Given the description of an element on the screen output the (x, y) to click on. 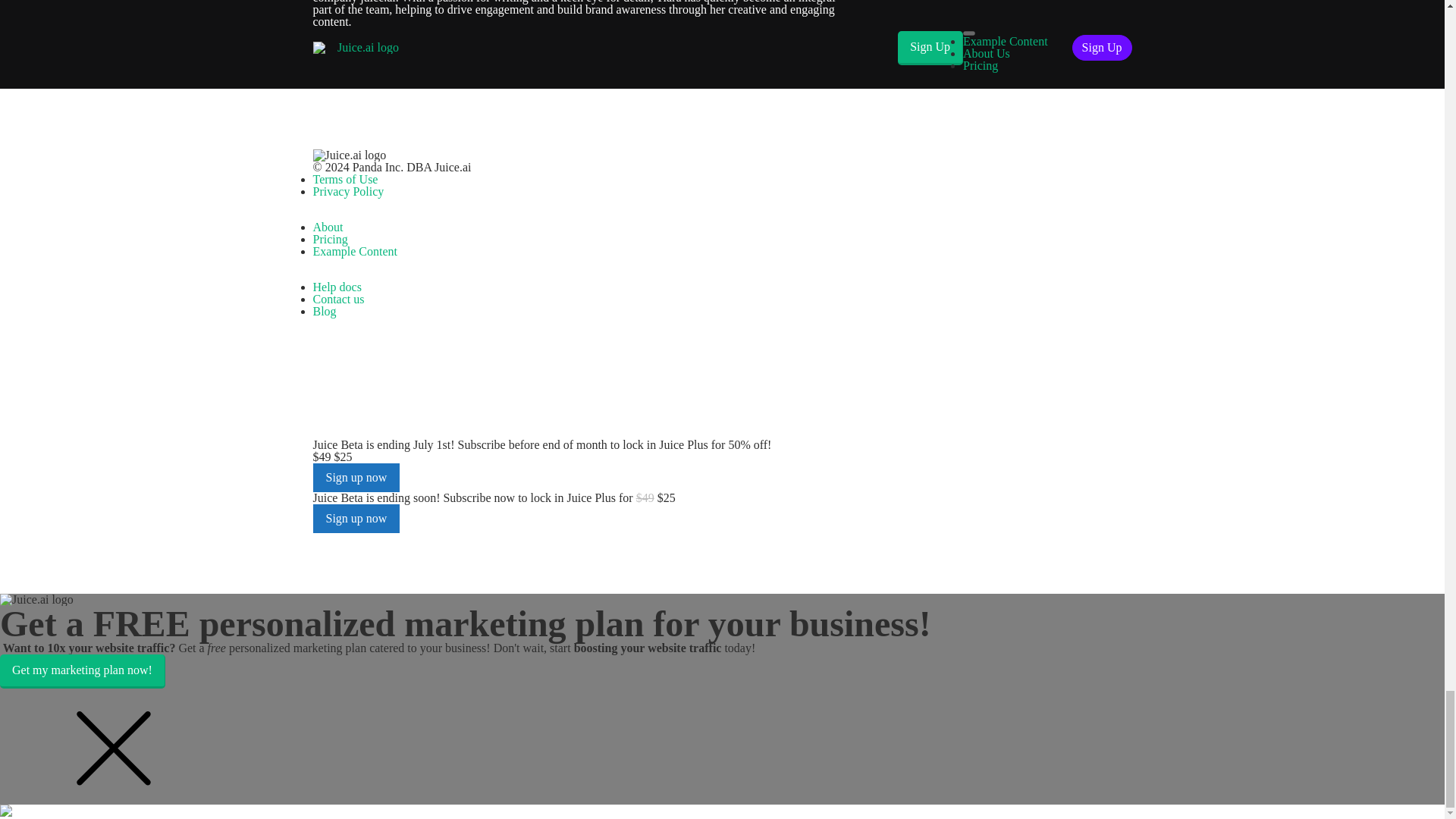
Privacy Policy (348, 191)
Terms of Use (345, 178)
